Given the description of an element on the screen output the (x, y) to click on. 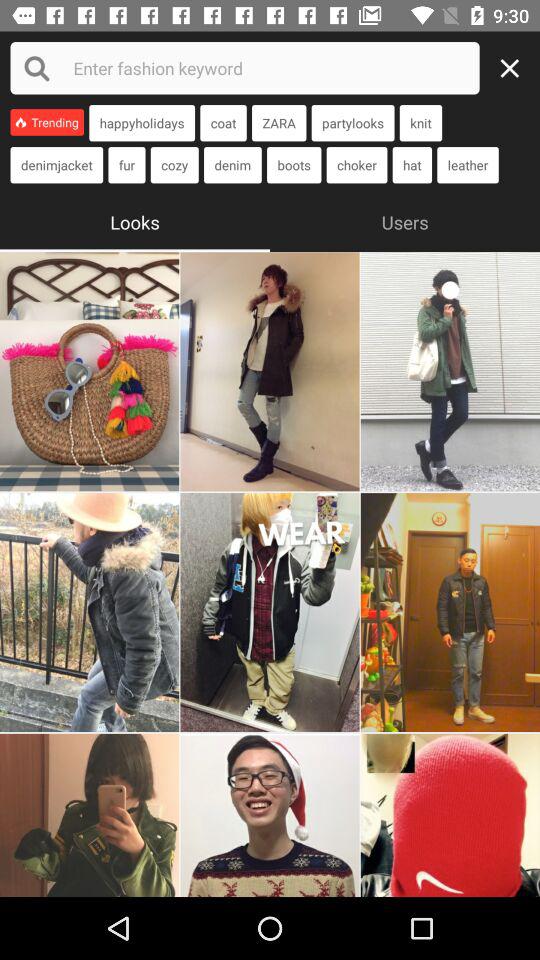
outif button full image wiew (269, 371)
